Given the description of an element on the screen output the (x, y) to click on. 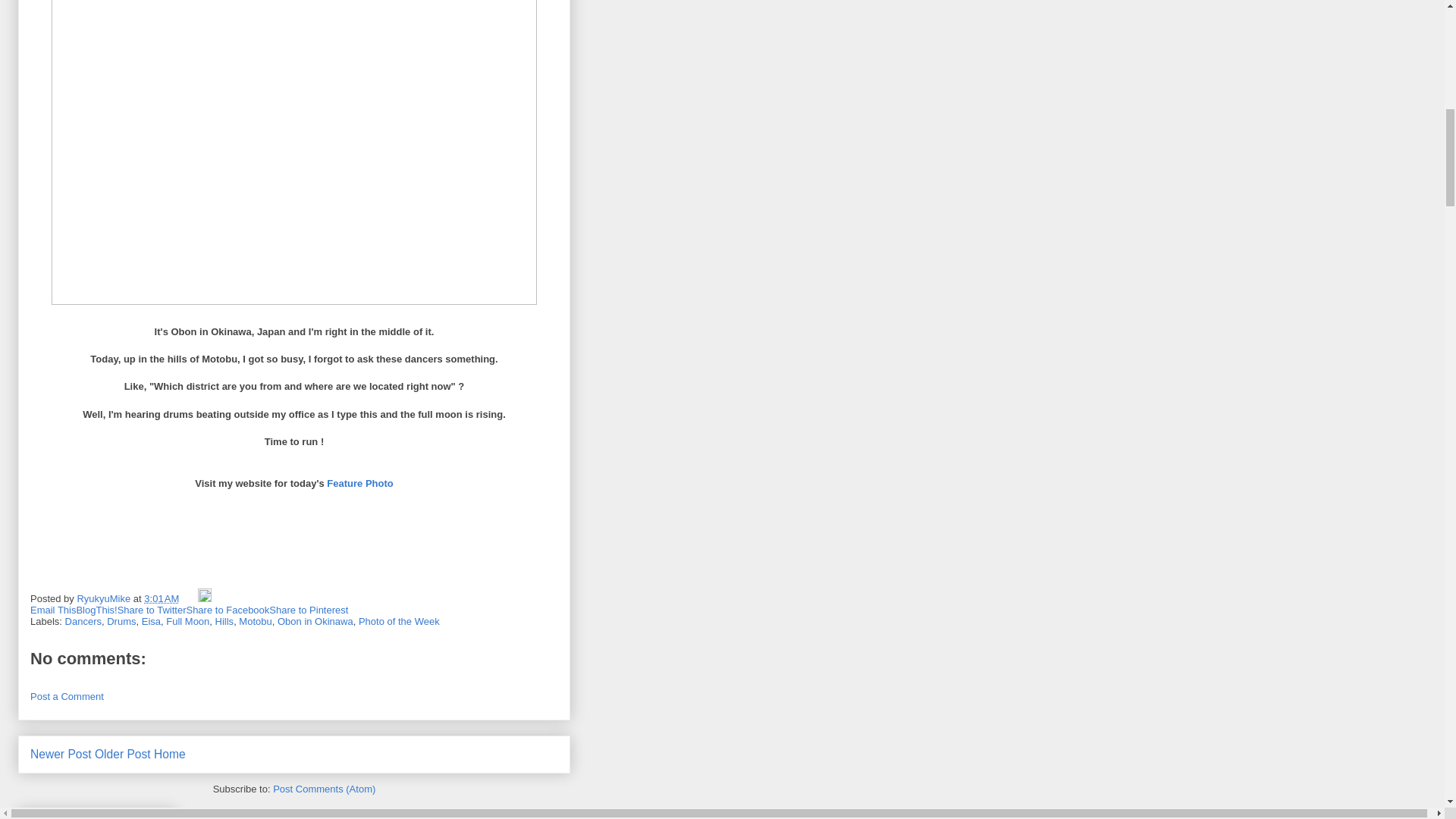
Newer Post (60, 753)
Eisa (150, 621)
Home (170, 753)
Motobu (254, 621)
Email This (52, 609)
Older Post (122, 753)
Share to Facebook (227, 609)
Full Moon (187, 621)
Post a Comment (66, 696)
BlogThis! (95, 609)
RyukyuMike (104, 598)
Edit Post (204, 598)
Share to Twitter (151, 609)
Newer Post (60, 753)
permanent link (161, 598)
